Given the description of an element on the screen output the (x, y) to click on. 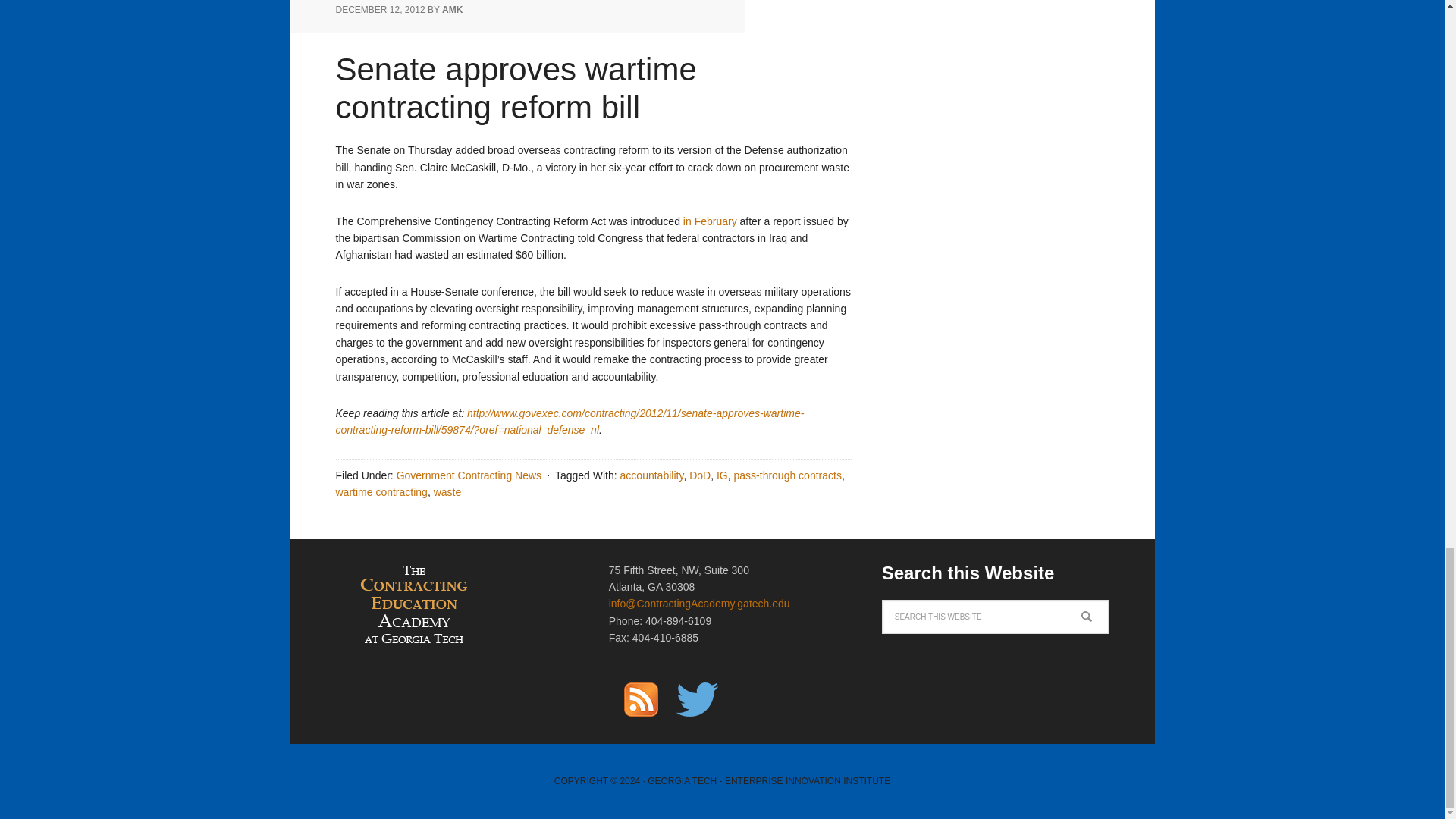
AMK (452, 9)
in February (709, 221)
Senate approves wartime contracting reform bill (514, 88)
